Given the description of an element on the screen output the (x, y) to click on. 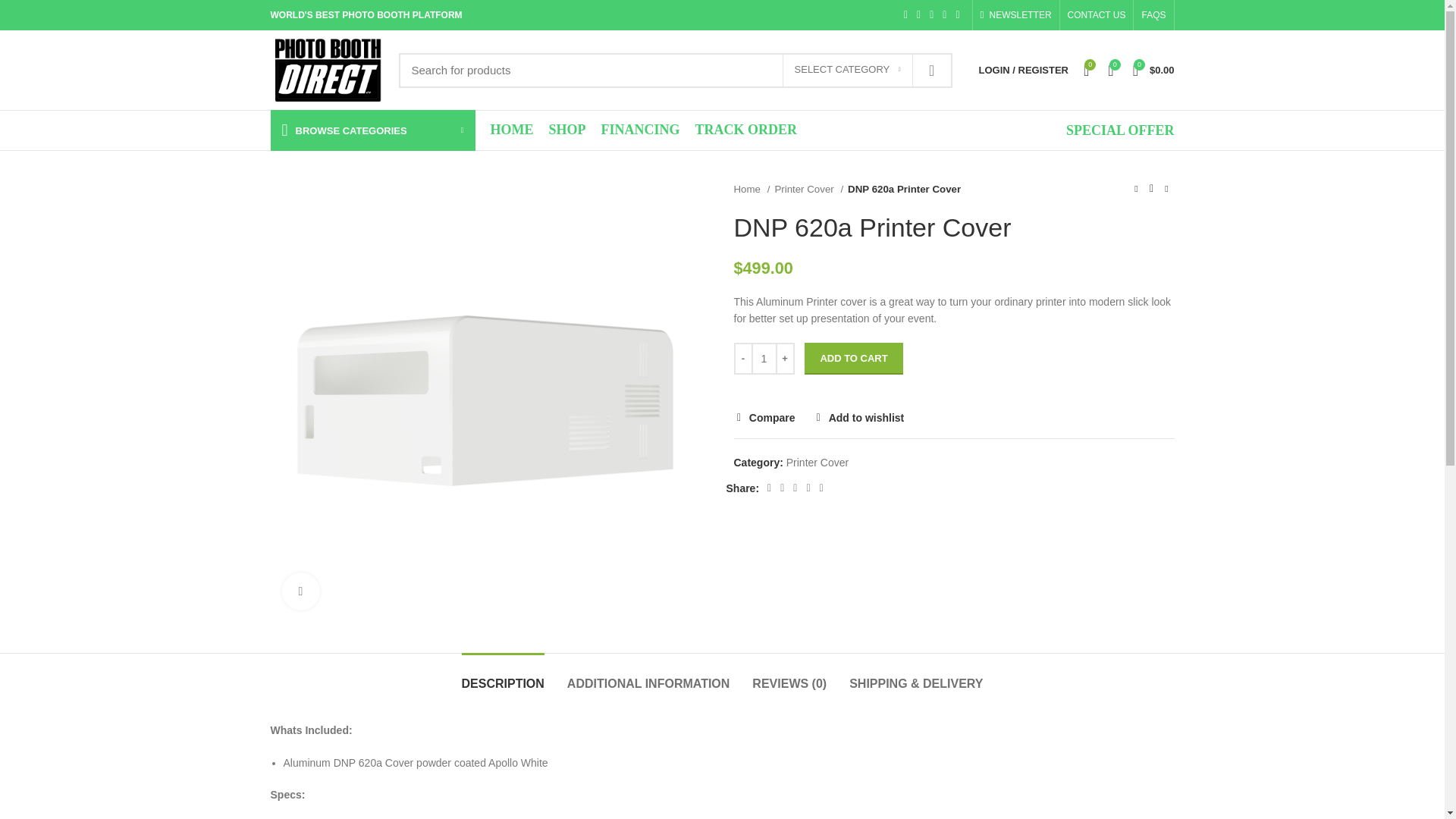
My account (1023, 69)
SEARCH (931, 70)
SELECT CATEGORY (847, 70)
Shopping cart (1153, 69)
Search for products (675, 70)
SELECT CATEGORY (847, 70)
CONTACT US (1096, 15)
NEWSLETTER (1015, 15)
FAQS (1153, 15)
